Given the description of an element on the screen output the (x, y) to click on. 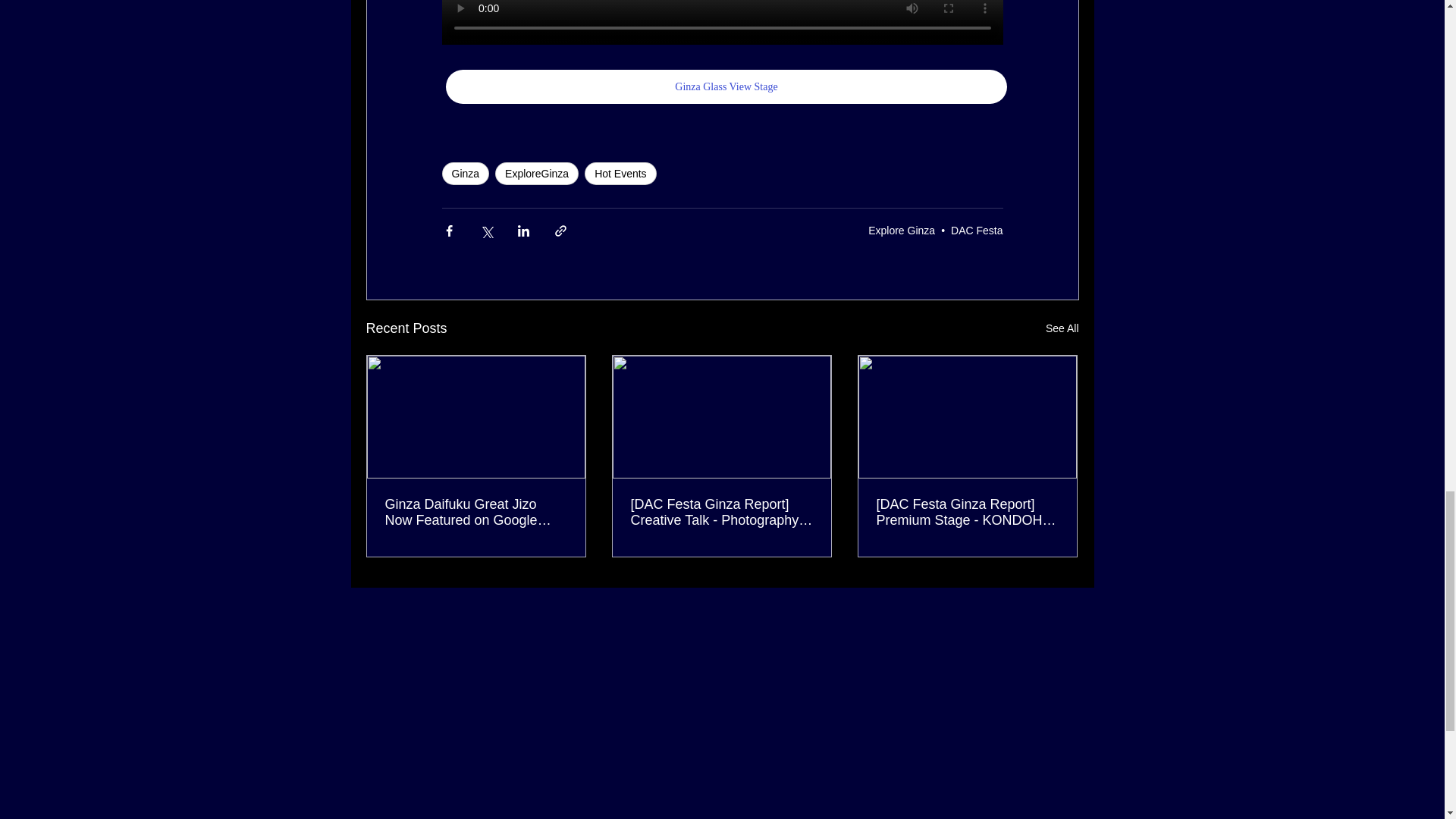
ExploreGinza (536, 173)
Ginza (465, 173)
See All (1061, 328)
Explore Ginza (900, 230)
Hot Events (620, 173)
DAC Festa (976, 230)
Ginza Glass View Stage (726, 86)
